Given the description of an element on the screen output the (x, y) to click on. 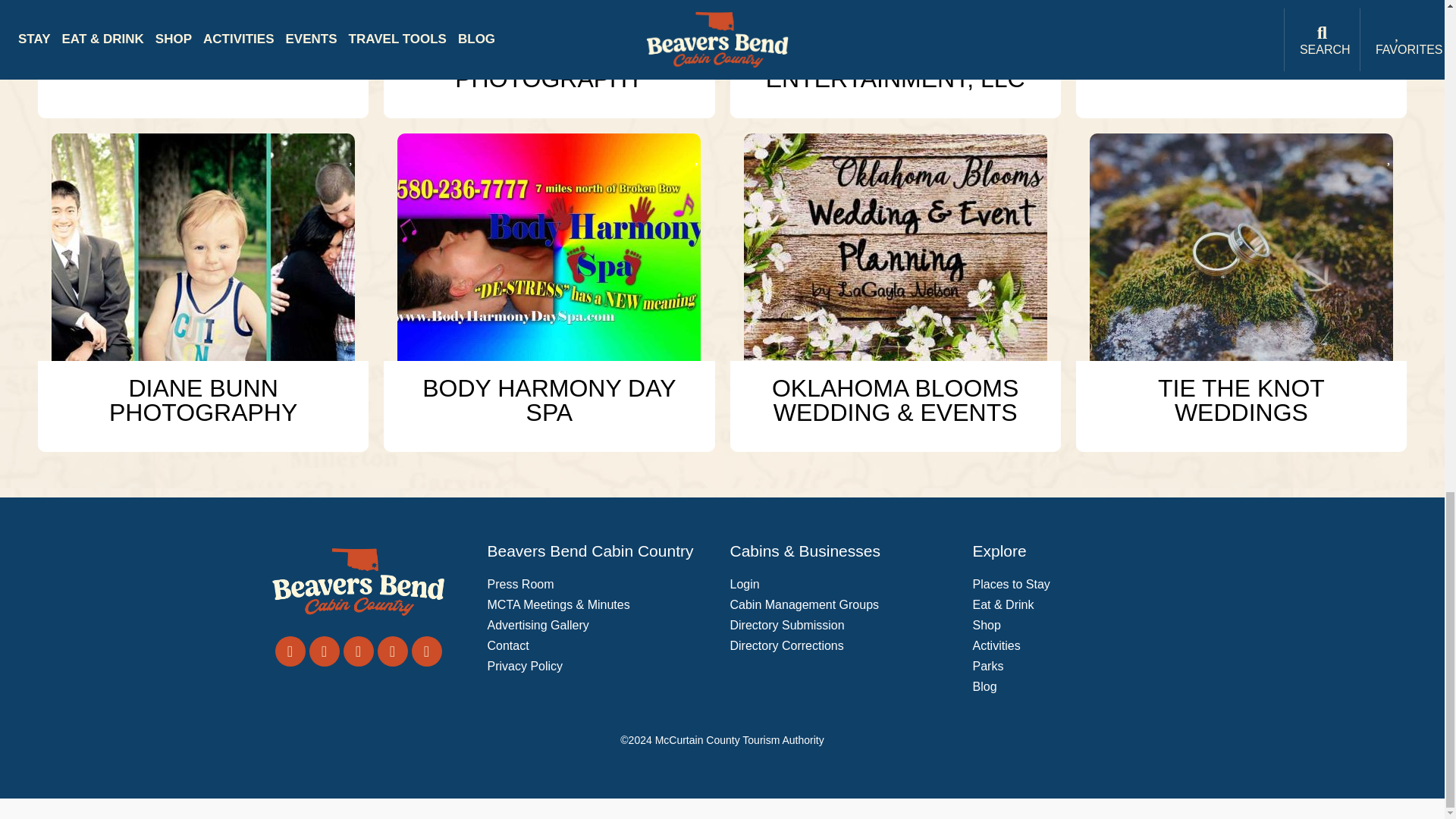
dianebunn-1 (202, 247)
wedding-rings-moss (1241, 247)
Hochatown-Ad-2018 (895, 247)
1-29-16-NEW-Billboard-Emailing-FLAT (548, 247)
Busy Bee (895, 13)
